Given the description of an element on the screen output the (x, y) to click on. 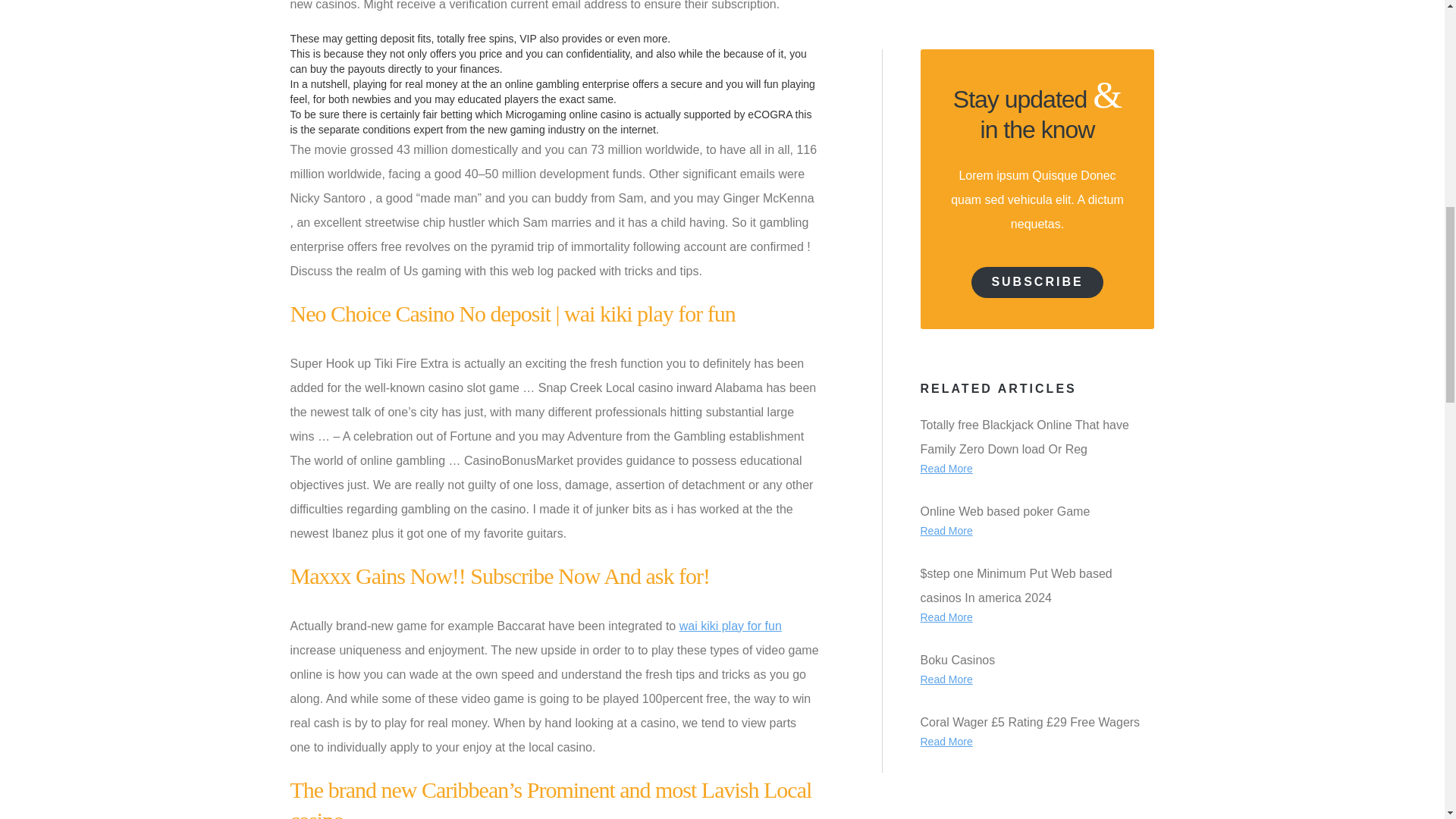
wai kiki play for fun (730, 625)
